Given the description of an element on the screen output the (x, y) to click on. 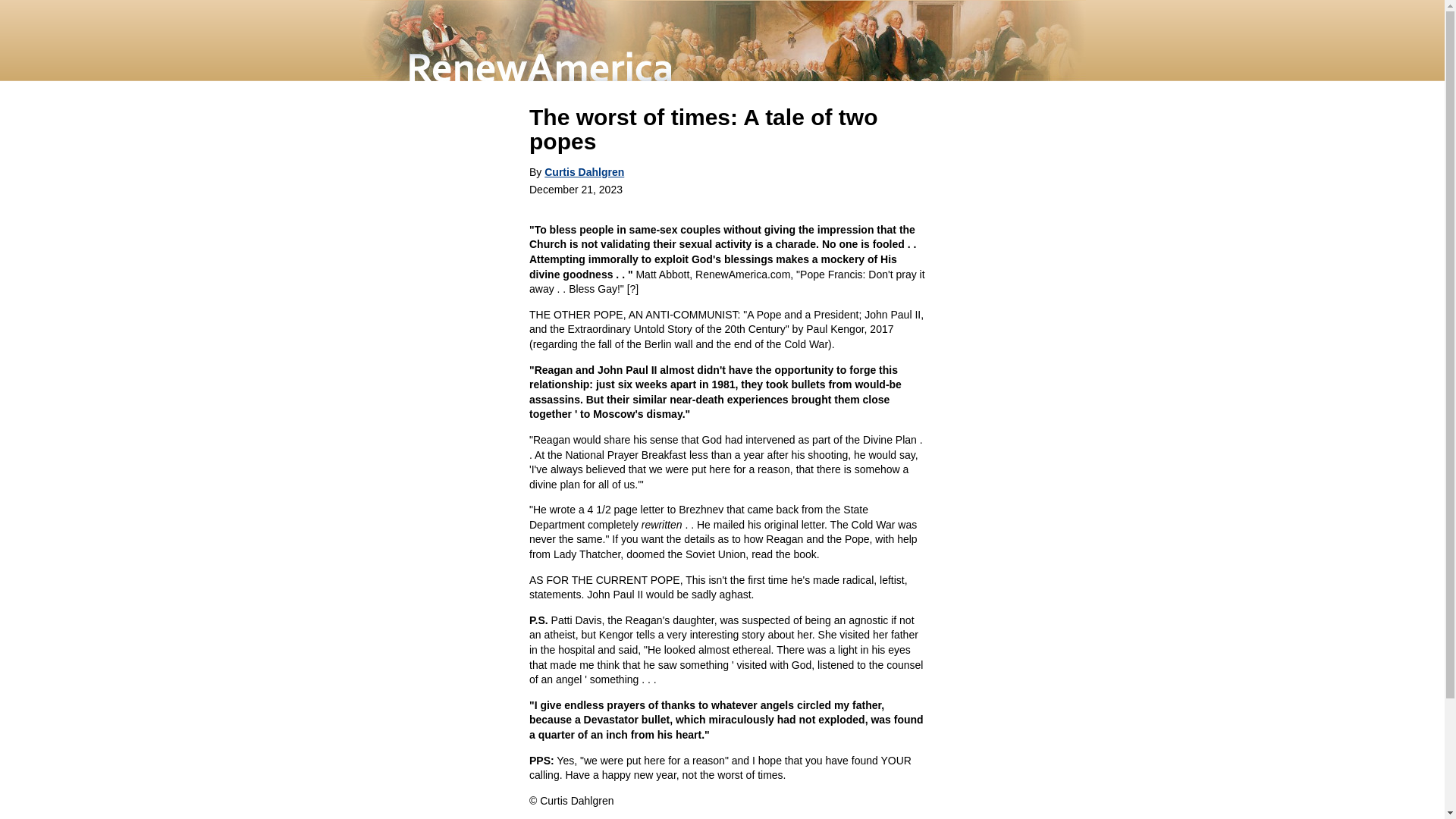
Curtis Dahlgren (584, 172)
